Given the description of an element on the screen output the (x, y) to click on. 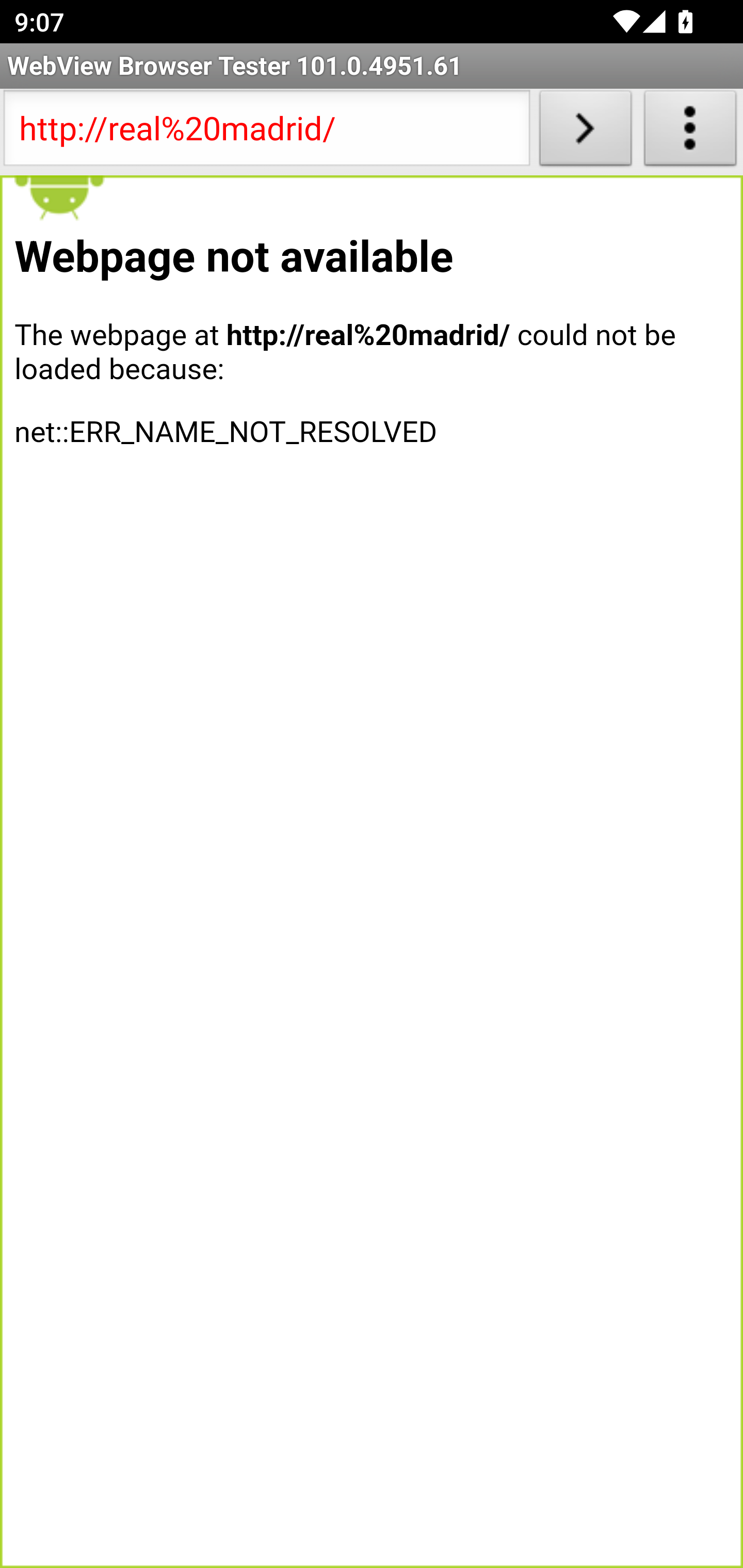
http://real%20madrid/ (266, 132)
Load URL (585, 132)
About WebView (690, 132)
